Given the description of an element on the screen output the (x, y) to click on. 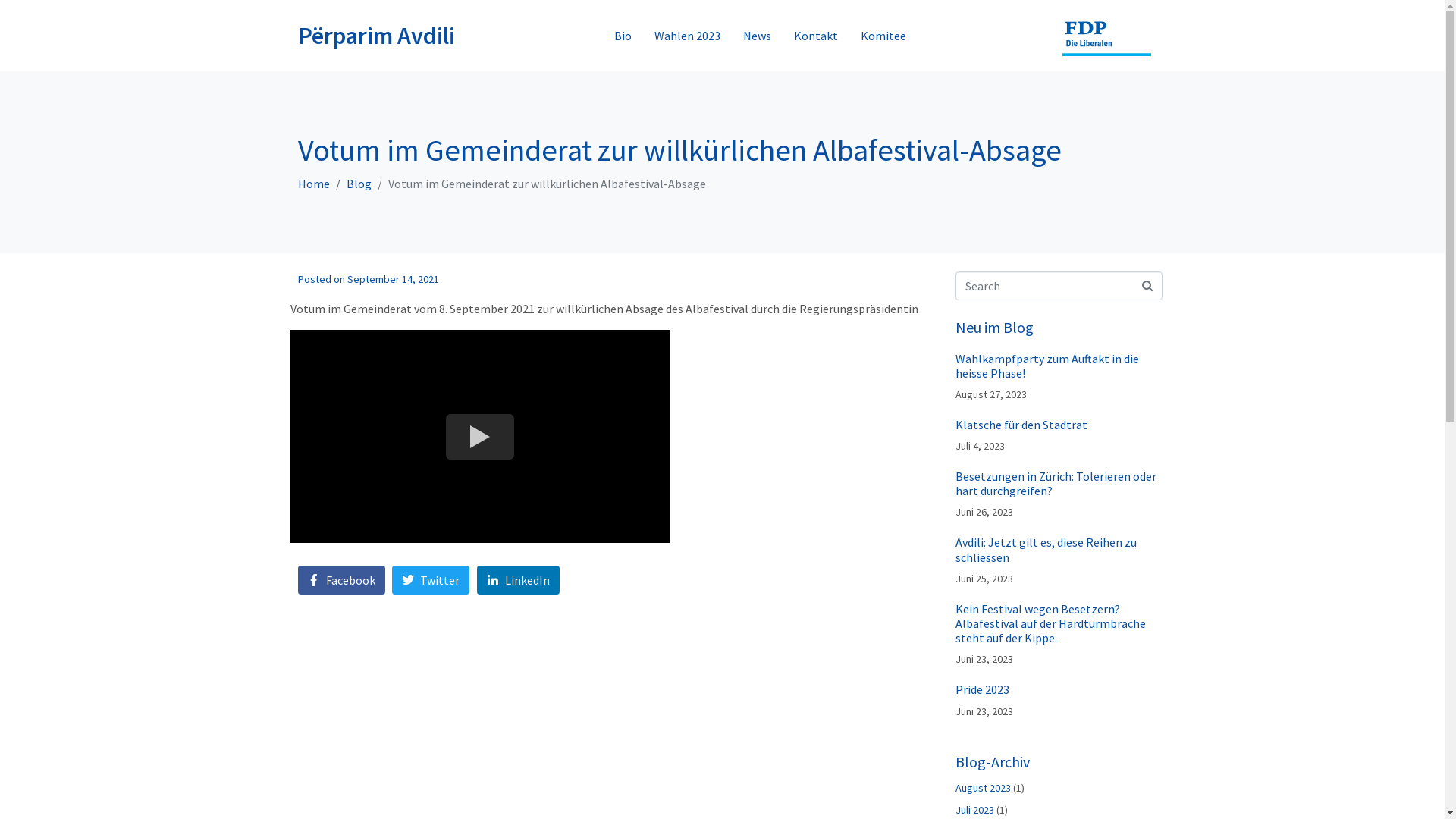
August 2023 Element type: text (982, 787)
Wahlen 2023 Element type: text (687, 35)
Facebook Element type: text (340, 580)
News Element type: text (756, 35)
LinkedIn Element type: text (517, 580)
Kontakt Element type: text (815, 35)
Home Element type: text (313, 183)
Juli 2023 Element type: text (974, 809)
Bio Element type: text (622, 35)
Avdili: Jetzt gilt es, diese Reihen zu schliessen Element type: text (1045, 549)
Blog Element type: text (357, 183)
Twitter Element type: text (430, 580)
Komitee Element type: text (883, 35)
Wahlkampfparty zum Auftakt in die heisse Phase! Element type: text (1047, 365)
Pride 2023 Element type: text (982, 688)
